Given the description of an element on the screen output the (x, y) to click on. 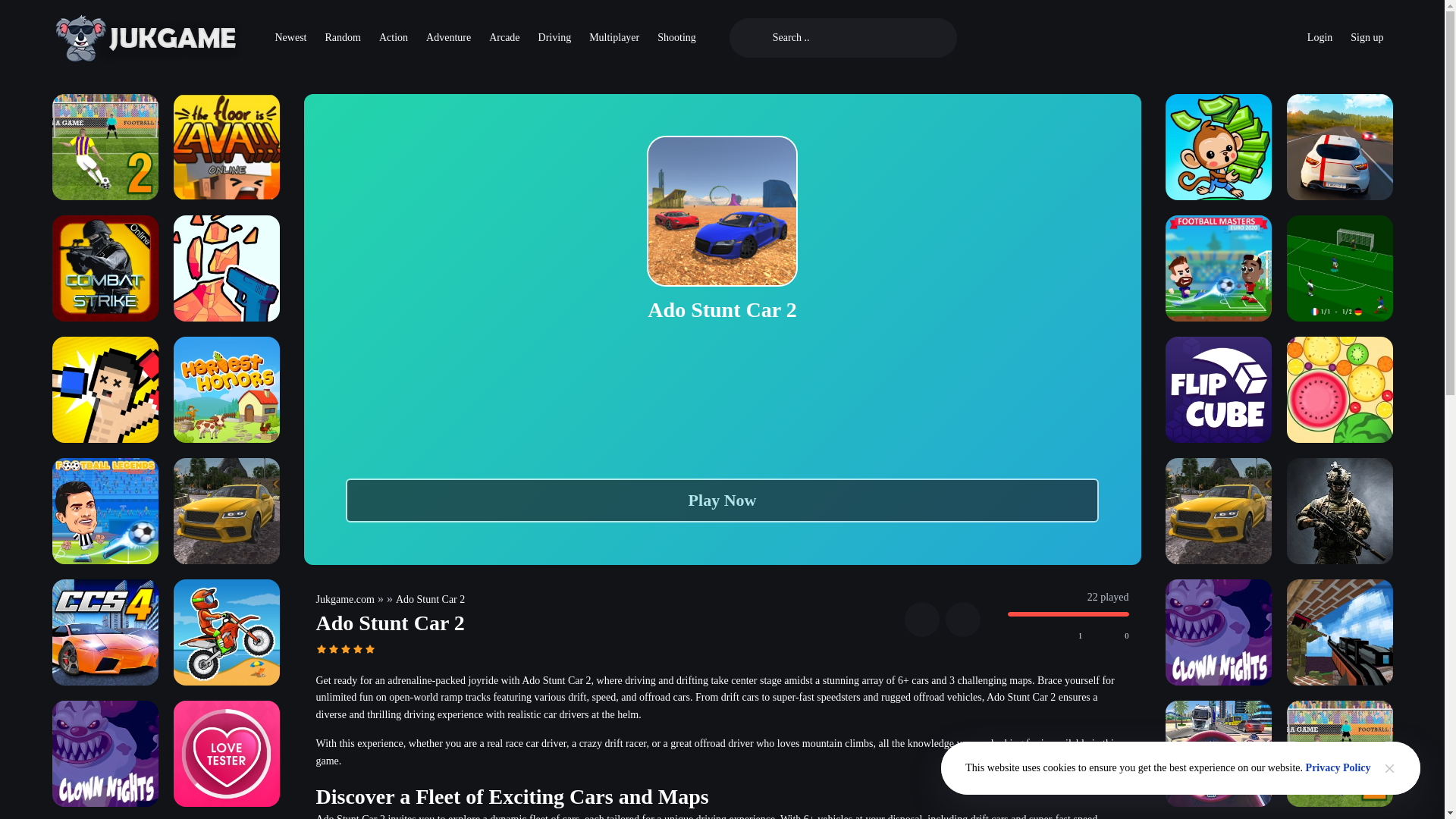
Newest (289, 37)
Arcade (504, 37)
Multiplayer (613, 37)
Action (392, 37)
Adventure (448, 37)
Jukgame.com (344, 599)
Driving (554, 37)
Shooting (675, 37)
Login (1319, 37)
Random (342, 37)
Sign up (1365, 37)
Play Now (722, 500)
